Given the description of an element on the screen output the (x, y) to click on. 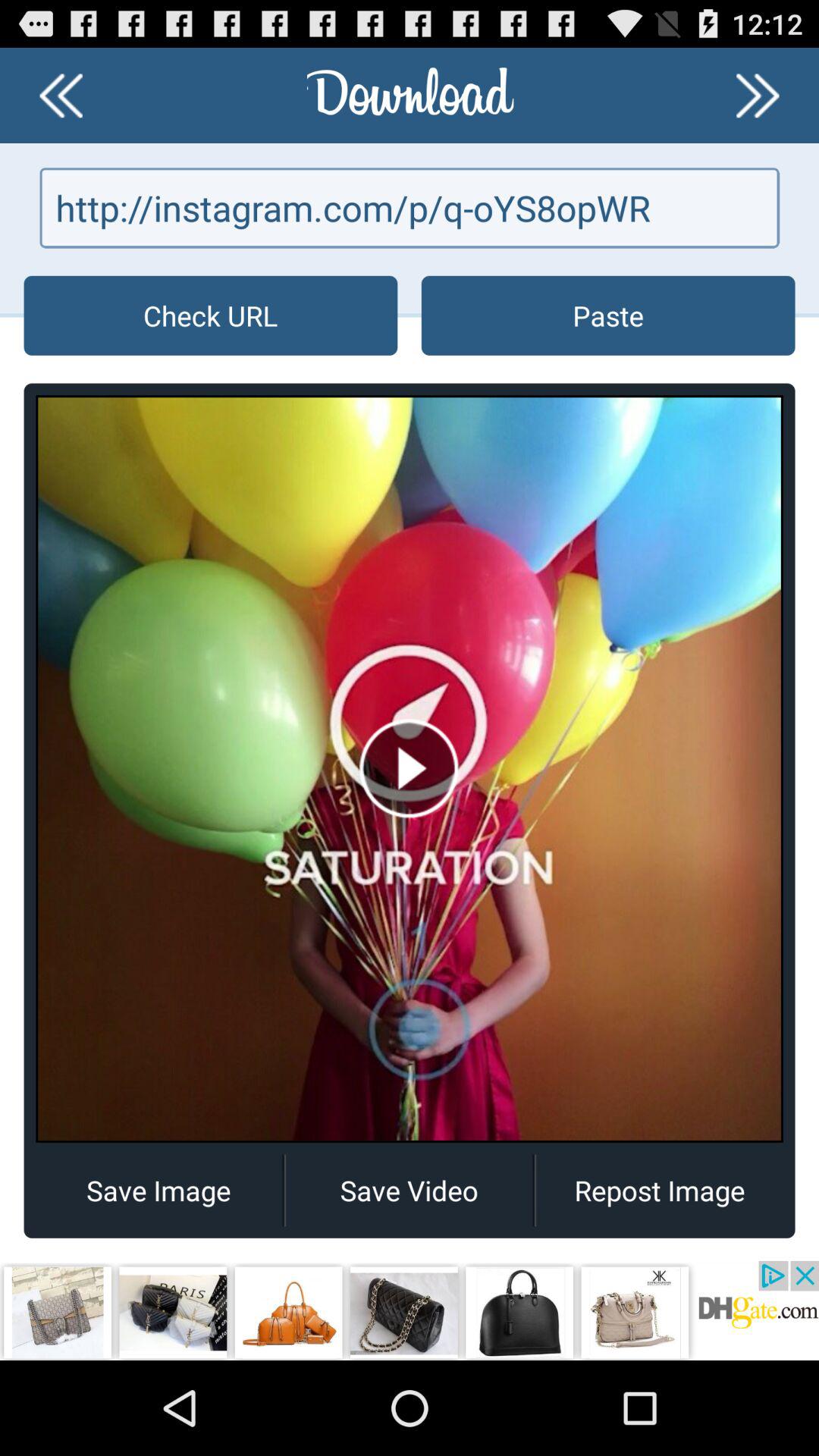
open webpage of displayed advertisement (409, 1310)
